Given the description of an element on the screen output the (x, y) to click on. 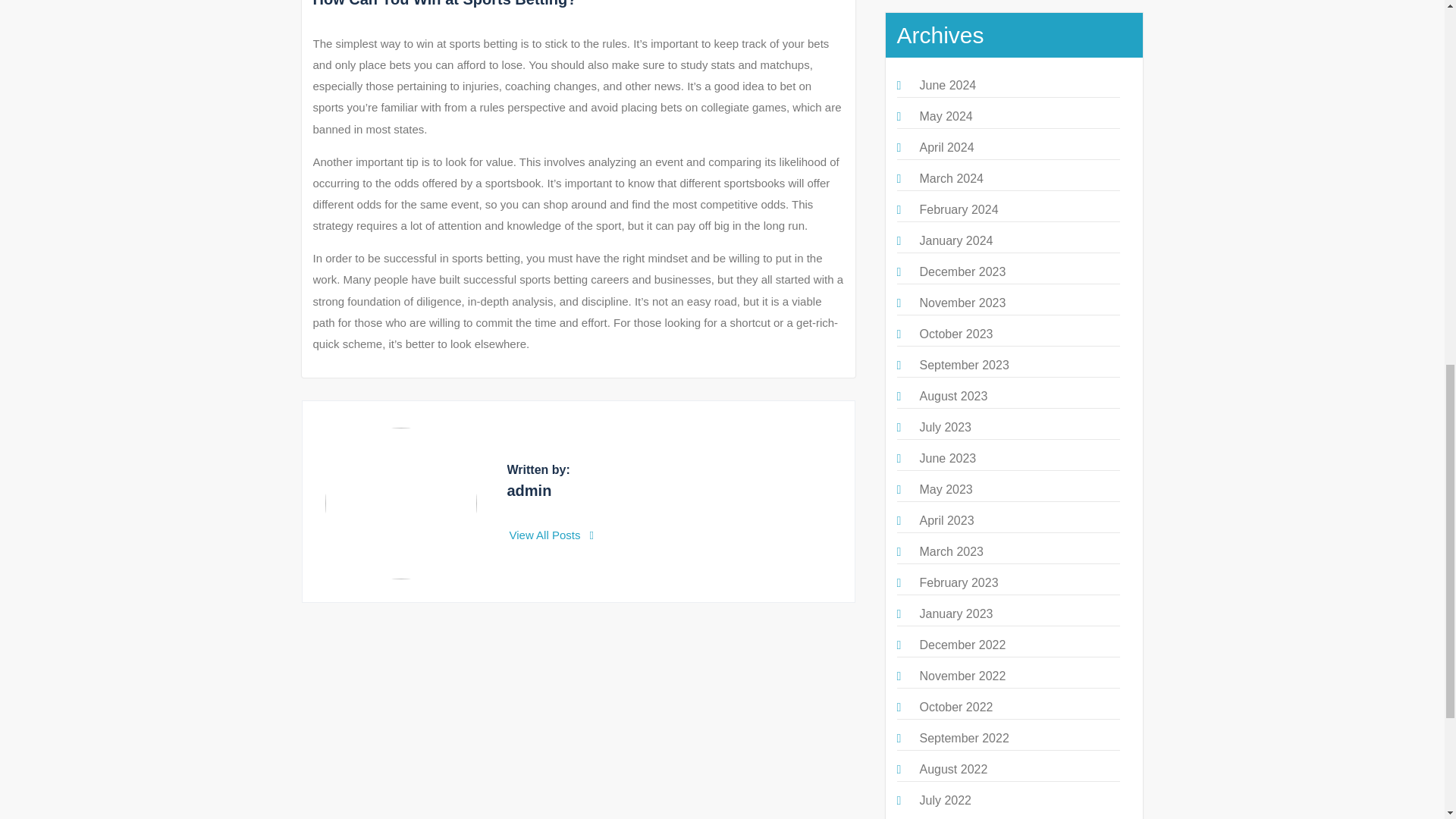
May 2023 (945, 489)
October 2022 (955, 707)
March 2023 (951, 551)
August 2023 (952, 395)
November 2023 (962, 302)
August 2022 (952, 768)
May 2024 (945, 115)
February 2023 (957, 582)
June 2023 (946, 458)
June 2024 (946, 84)
